Given the description of an element on the screen output the (x, y) to click on. 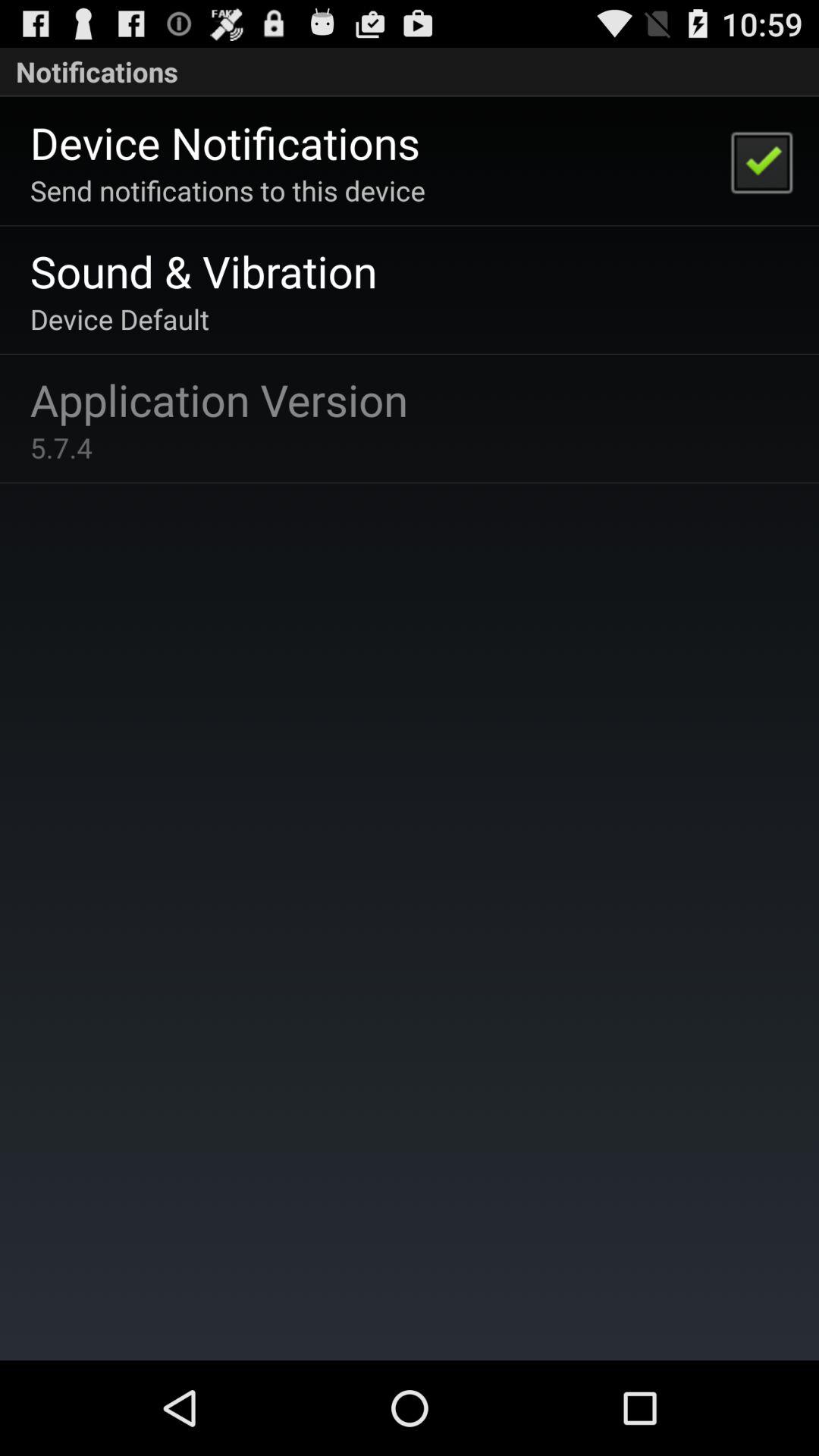
jump until the sound & vibration icon (203, 270)
